Given the description of an element on the screen output the (x, y) to click on. 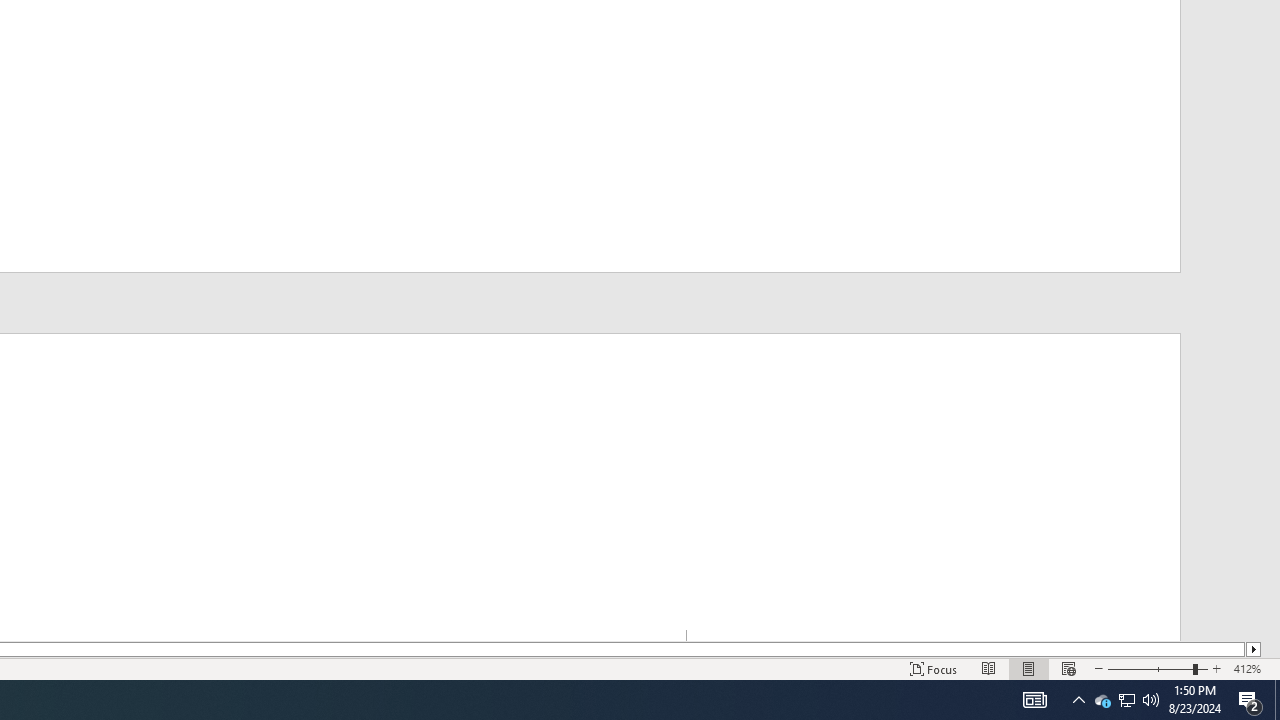
Column right (1254, 649)
